Given the description of an element on the screen output the (x, y) to click on. 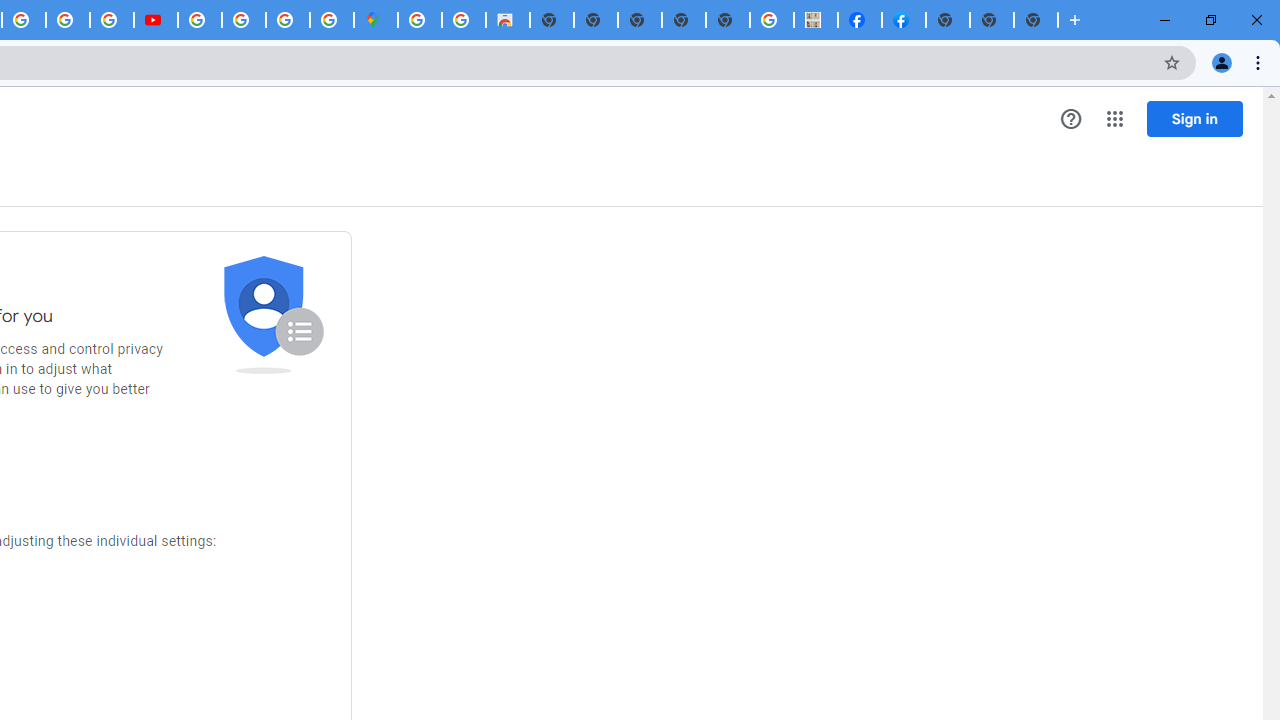
MILEY CYRUS. (815, 20)
Sign Up for Facebook (903, 20)
New Tab (947, 20)
Privacy Help Center - Policies Help (67, 20)
Miley Cyrus | Facebook (859, 20)
